Given the description of an element on the screen output the (x, y) to click on. 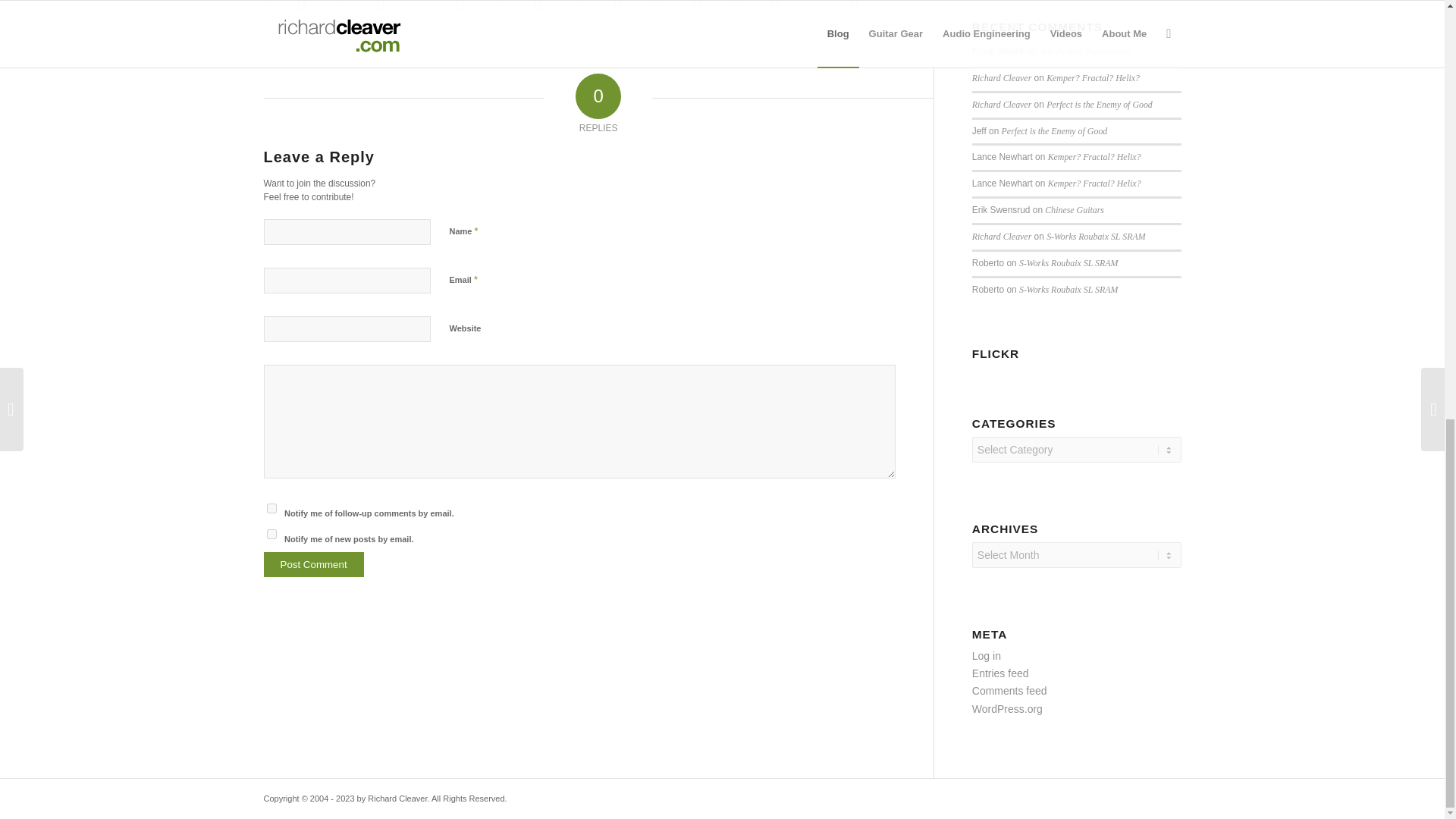
Richard Cleaver (1001, 77)
subscribe (271, 508)
Which Way? (617, 12)
Avian Flu (301, 12)
House On A Hill (459, 12)
Kemper? Fractal? Helix? (1093, 77)
Reflections On The New Year (538, 12)
Perfect is the Enemy of Good (1099, 104)
Skip Prokop Passes Away (1084, 50)
Post Comment (313, 564)
Perfect is the Enemy of Good (1054, 131)
The Long Weekend (380, 12)
Post Comment (313, 564)
Chain Link (696, 12)
subscribe (271, 533)
